Given the description of an element on the screen output the (x, y) to click on. 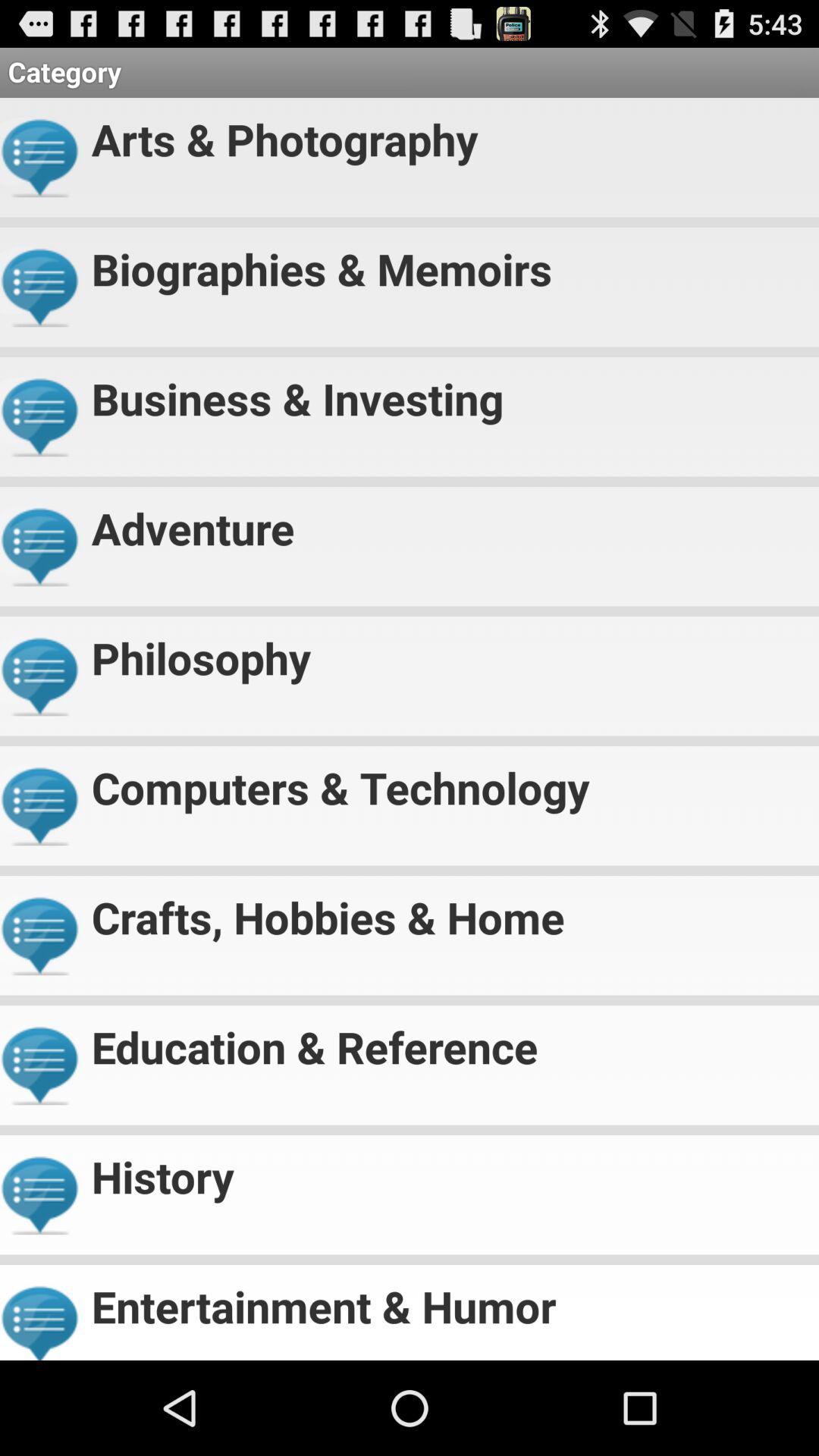
turn on the crafts, hobbies & home app (449, 910)
